Given the description of an element on the screen output the (x, y) to click on. 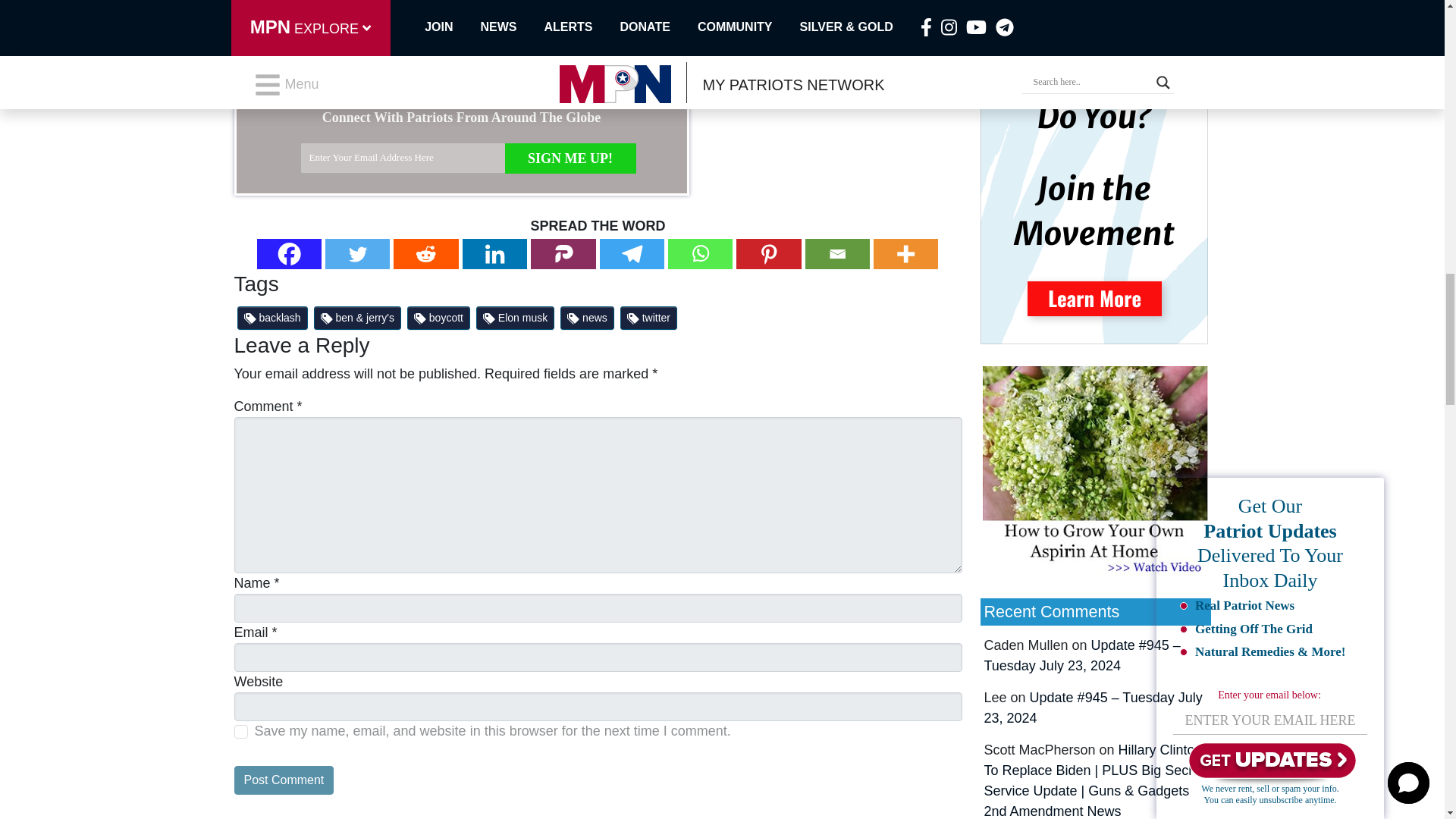
Post Comment (282, 779)
yes (239, 731)
